Given the description of an element on the screen output the (x, y) to click on. 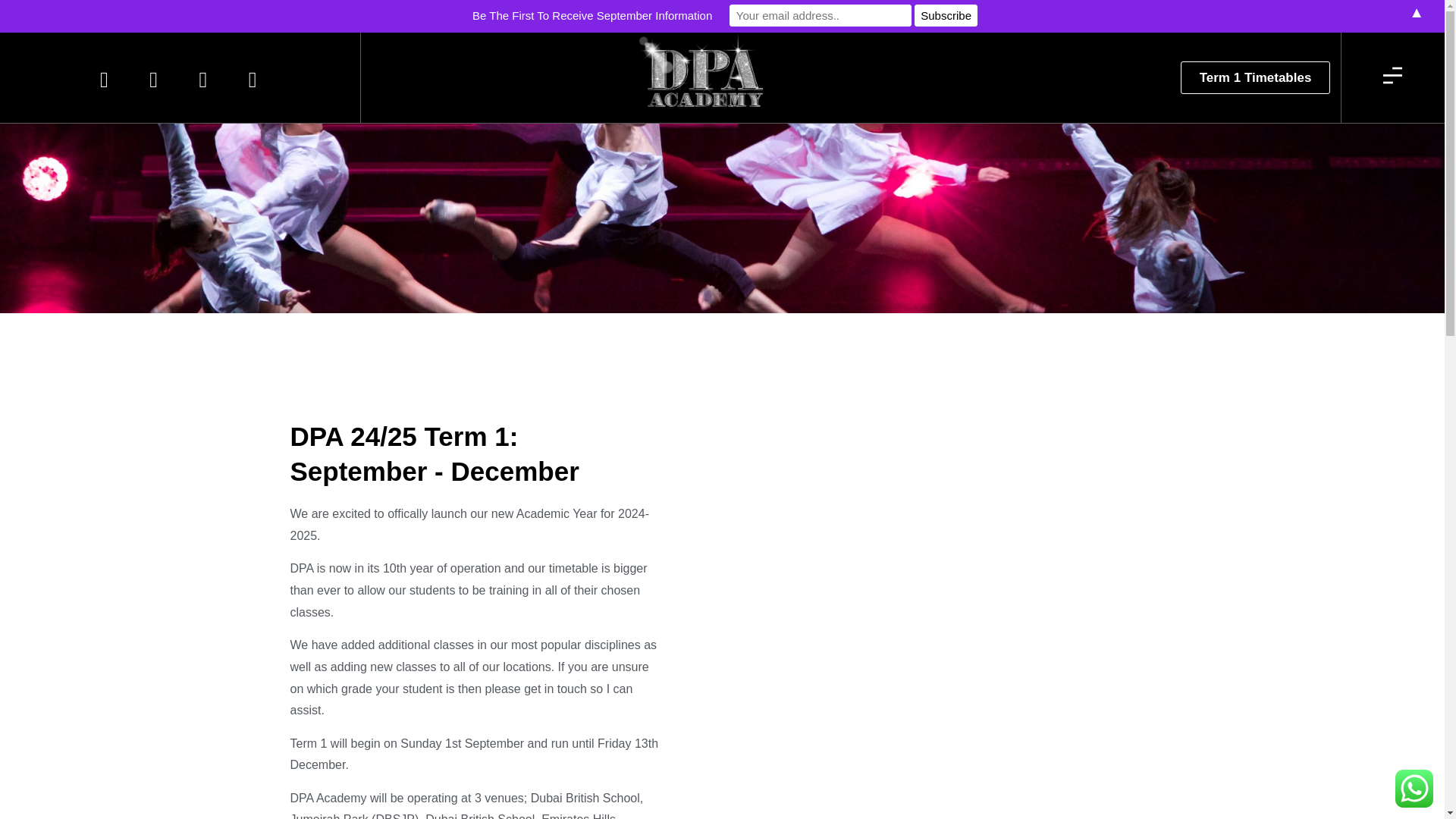
dpaacademybling (705, 73)
Term 1 Timetables (1255, 77)
Subscribe (946, 15)
Subscribe (946, 15)
